Given the description of an element on the screen output the (x, y) to click on. 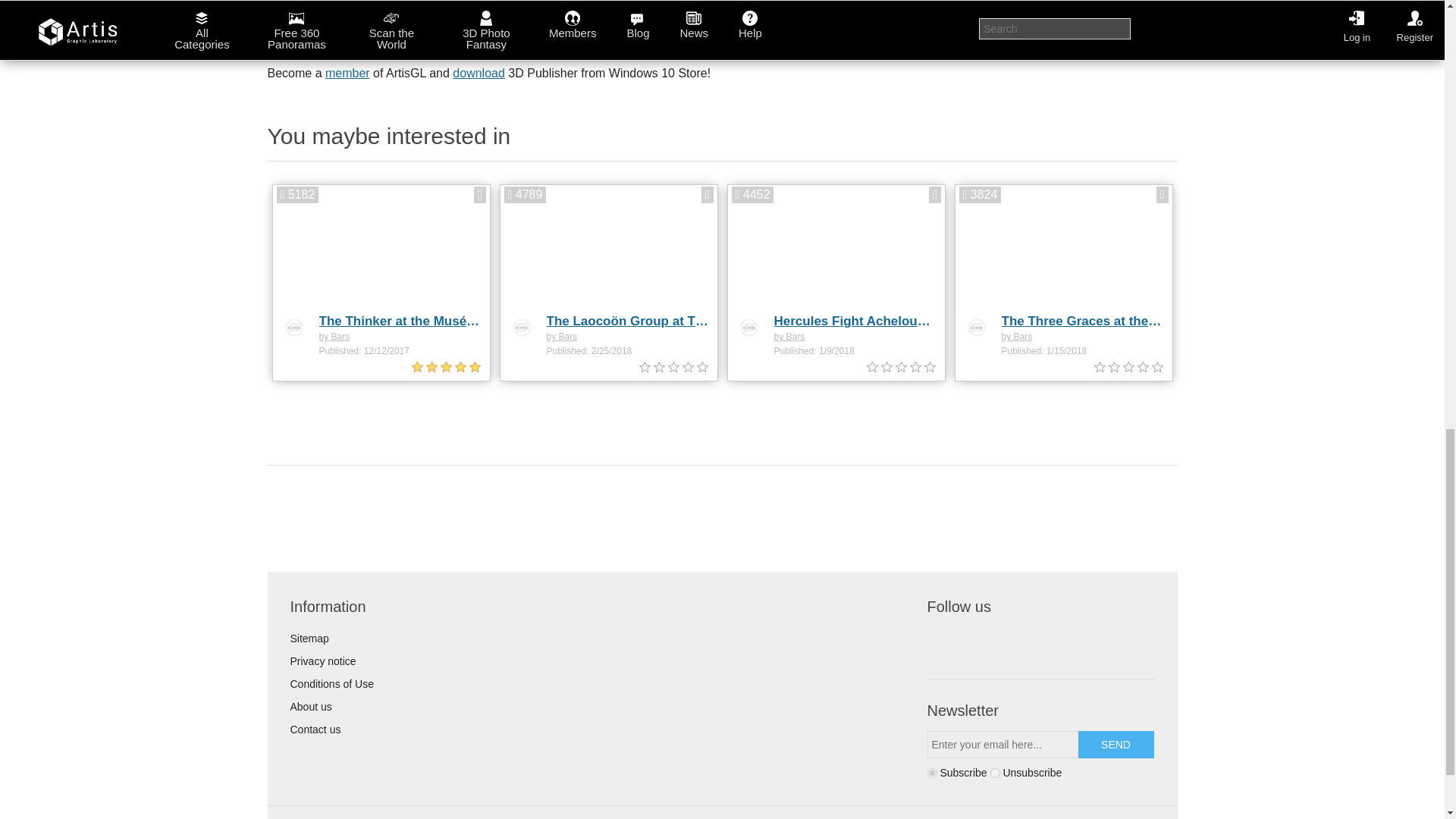
Send (1116, 744)
